Given the description of an element on the screen output the (x, y) to click on. 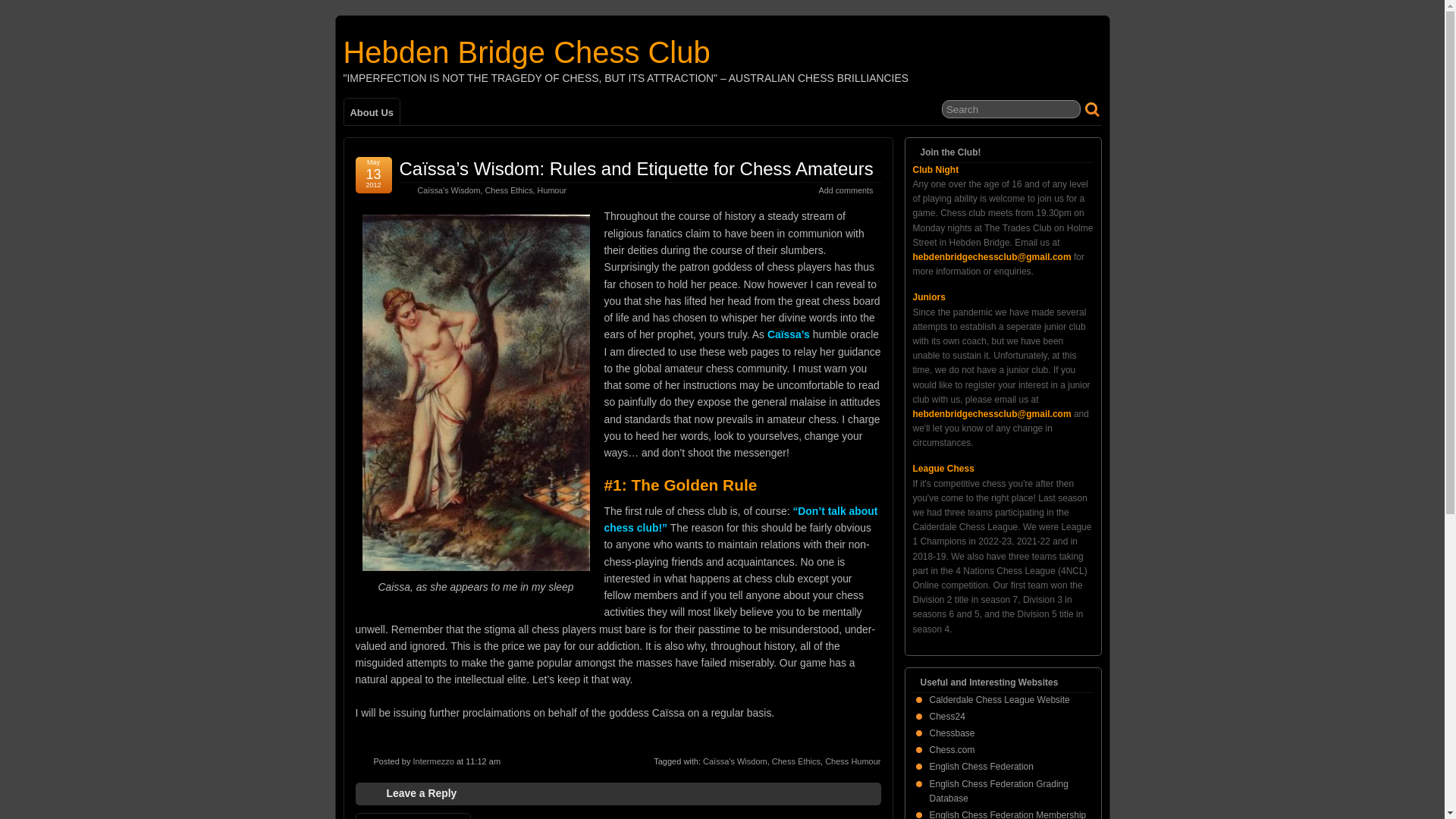
Add comments (845, 189)
Chess24 (947, 716)
Hebden Bridge Chess Club (526, 52)
Chess Ethics (508, 189)
English Chess Federation (981, 766)
Chessbase (952, 733)
Humour (551, 189)
Chess Humour (852, 760)
Search (1011, 108)
English Chess Federation Membership portal (1008, 814)
Intermezzo (432, 760)
Search (1011, 108)
About Us (371, 111)
English Chess Federation Grading Database (999, 790)
Chess.com (952, 749)
